Given the description of an element on the screen output the (x, y) to click on. 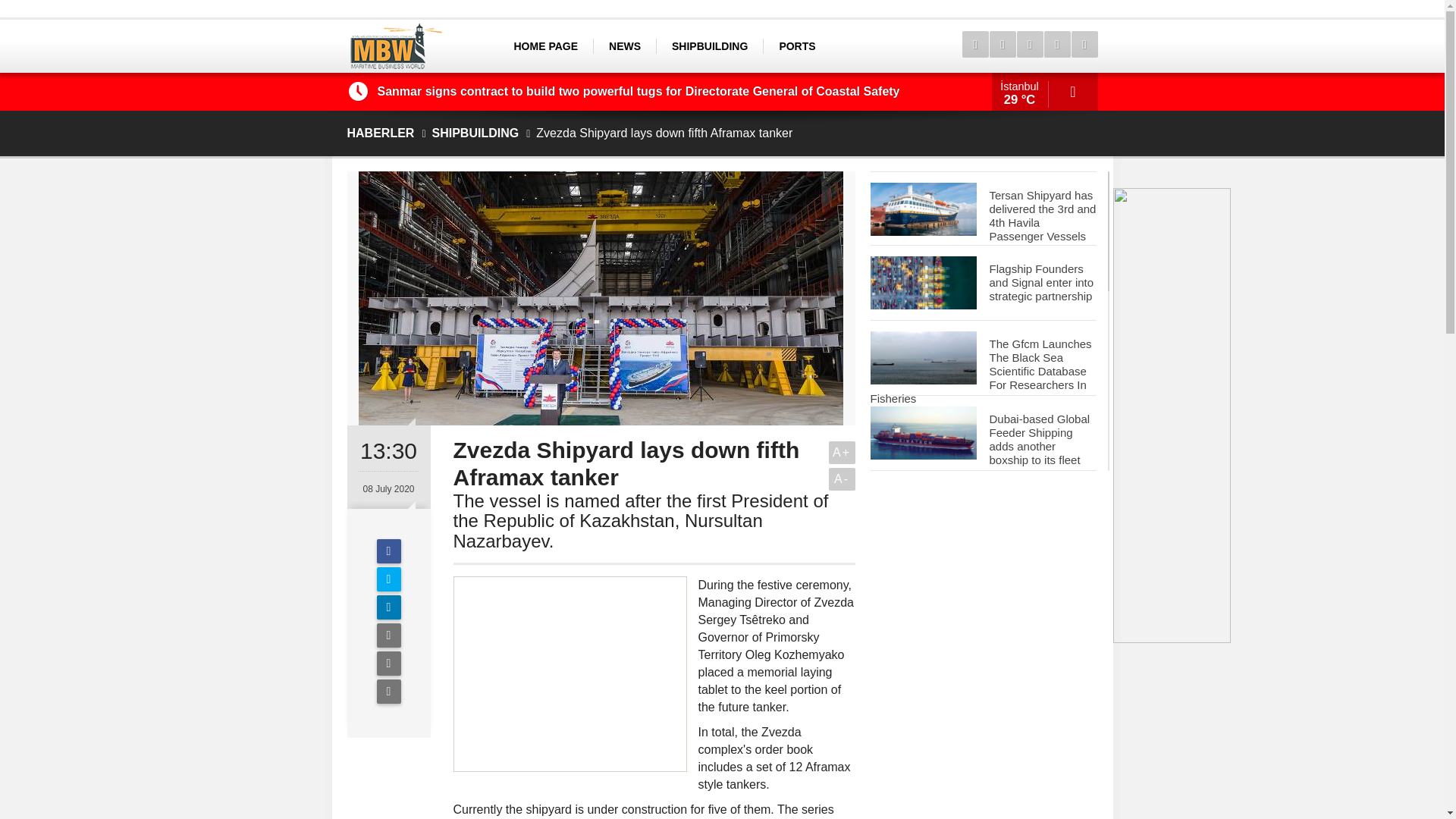
Foto Galeri (1029, 44)
NEWS (624, 46)
Facebook (387, 550)
LinkedIn (387, 607)
SHIPBUILDING (709, 46)
Web TV (1001, 44)
PORTS (795, 46)
Yorum Yap (387, 691)
Advertisement (570, 674)
